Given the description of an element on the screen output the (x, y) to click on. 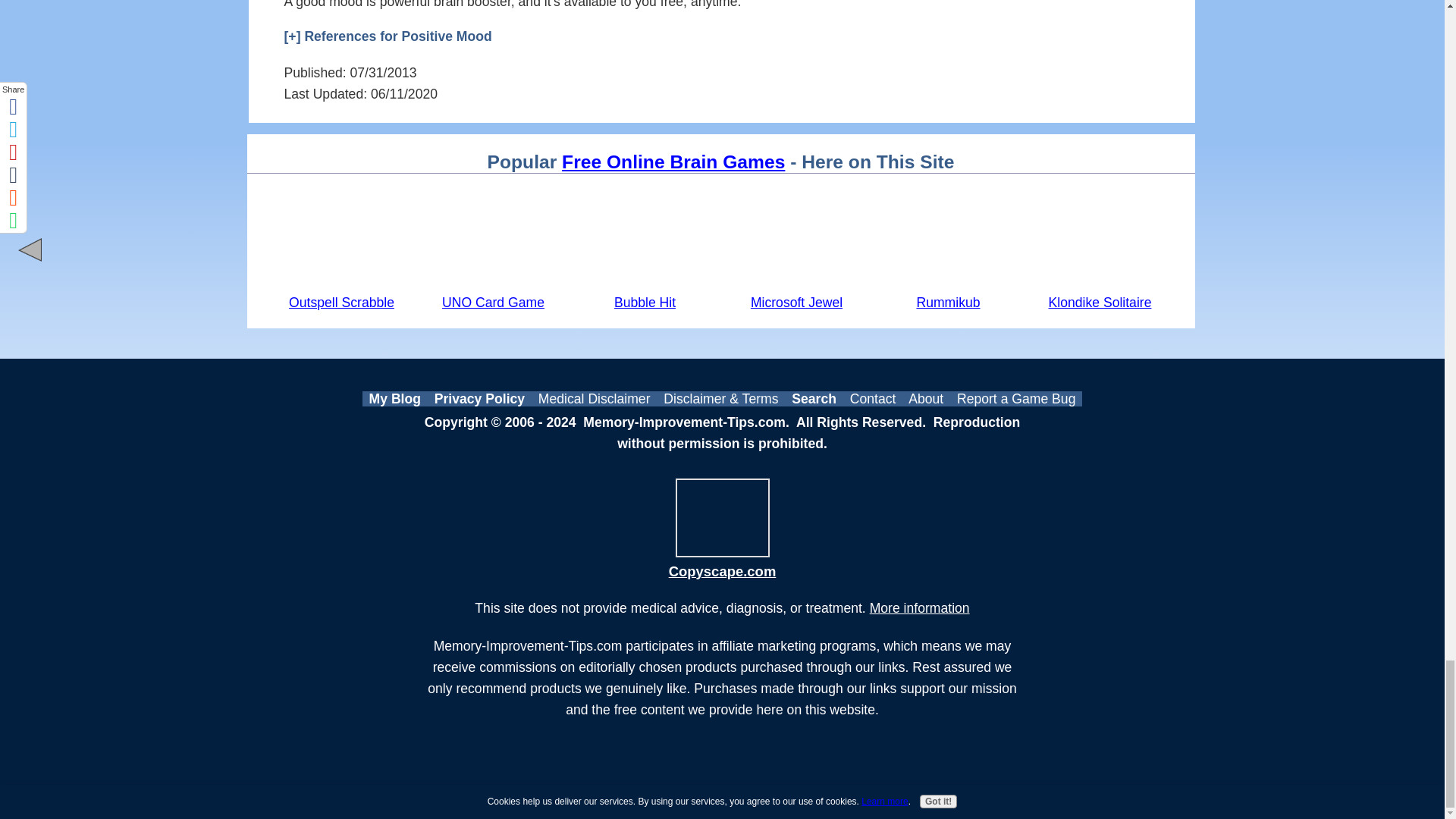
Smilie (749, 2)
